Given the description of an element on the screen output the (x, y) to click on. 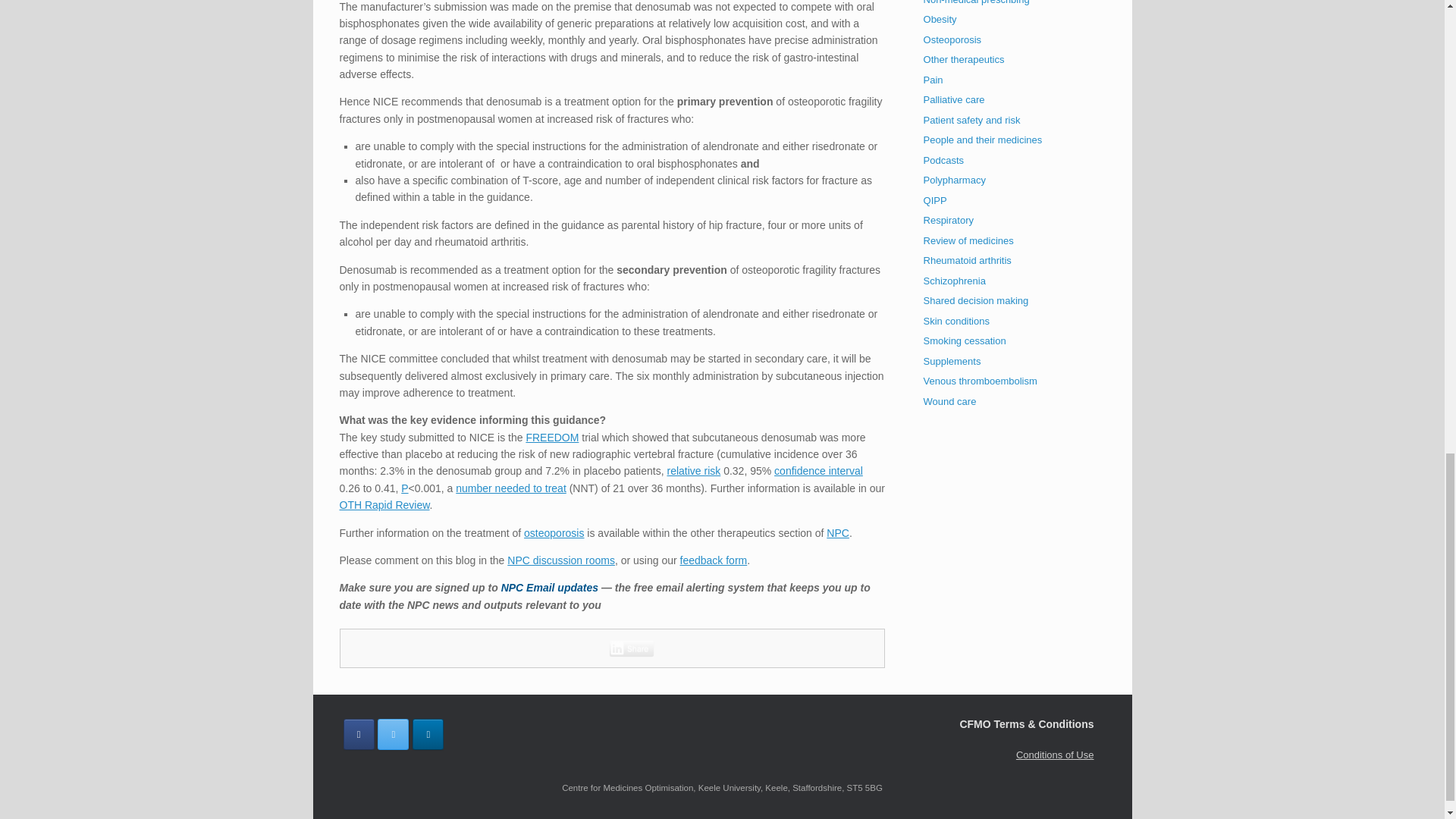
relative risk (693, 470)
Share (631, 648)
OTH Rapid Review (384, 504)
number needed to treat (510, 488)
FREEDOM (551, 437)
NPC discussion rooms (560, 560)
Centre for Medicines Optimisation on Facebook (358, 734)
NPC (837, 532)
Centre for Medicines Optimisation on Linkedin (428, 734)
Centre for Medicines Optimisation on X Twitter (393, 734)
